Given the description of an element on the screen output the (x, y) to click on. 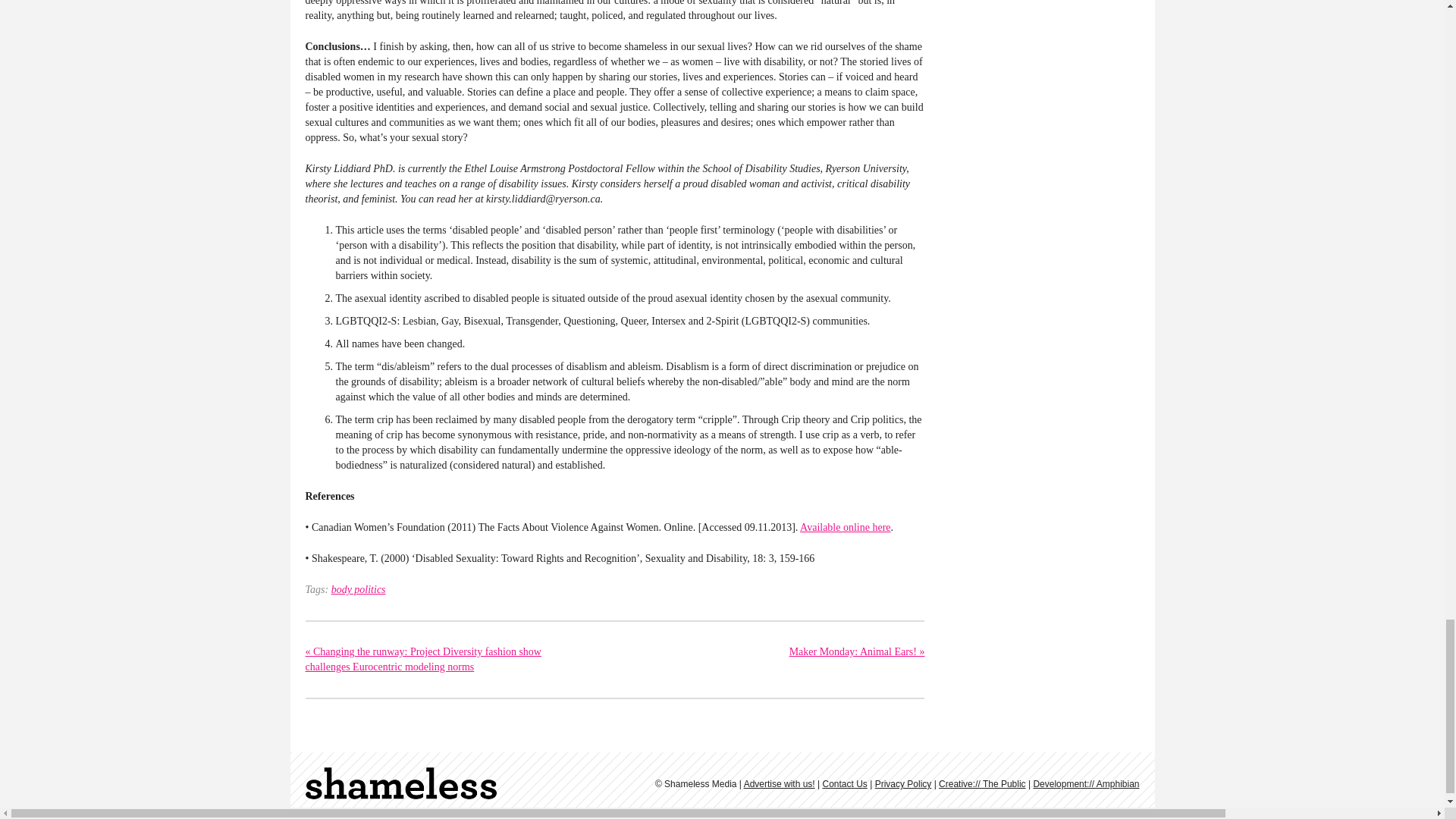
Available online here (844, 527)
body politics (358, 589)
